Given the description of an element on the screen output the (x, y) to click on. 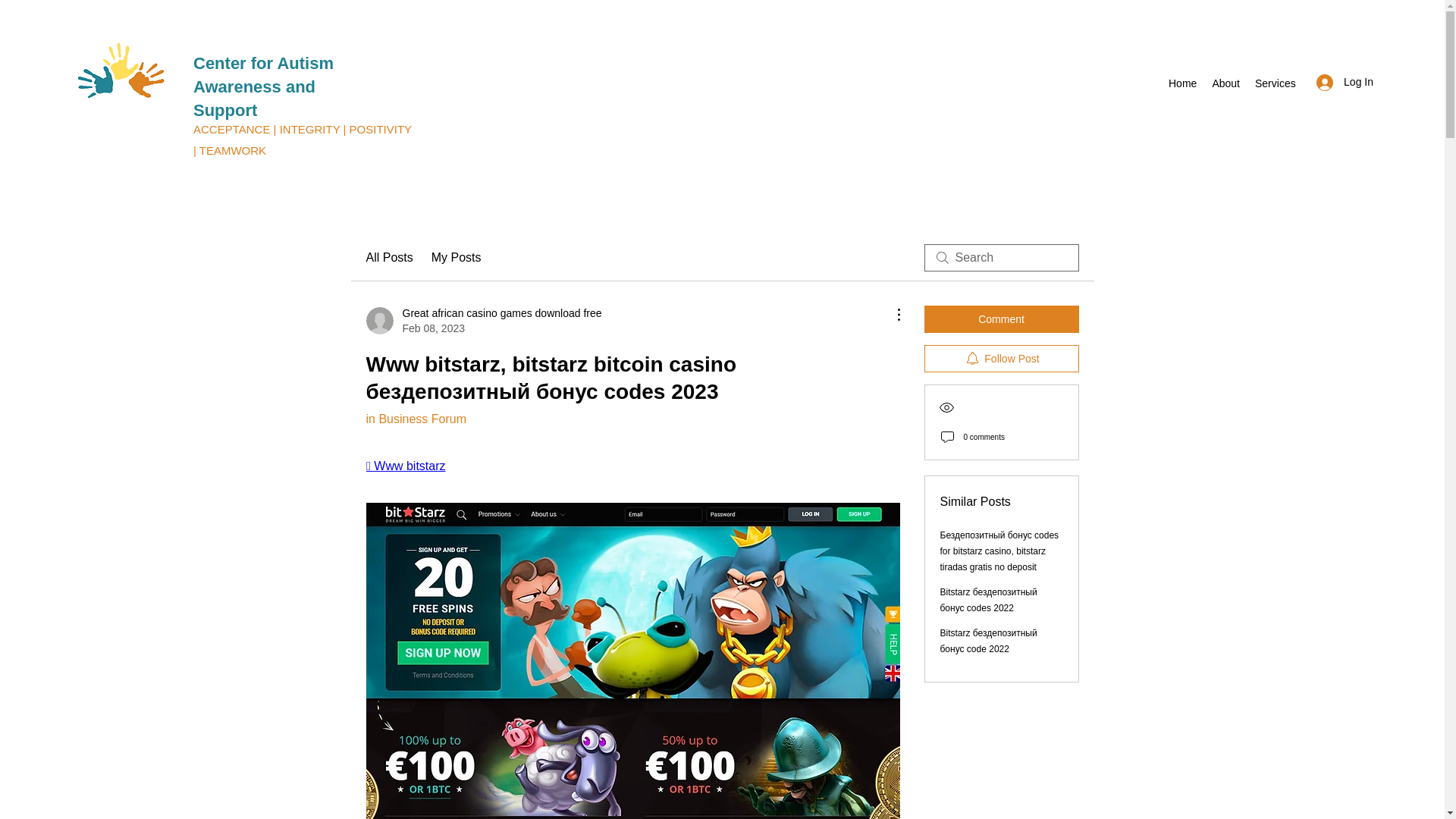
Home (1182, 83)
My Posts (455, 257)
Follow Post (1000, 358)
Services (1275, 83)
About (1225, 83)
Comment (1000, 318)
Log In (1345, 81)
All Posts (388, 257)
in Business Forum (415, 418)
